Given the description of an element on the screen output the (x, y) to click on. 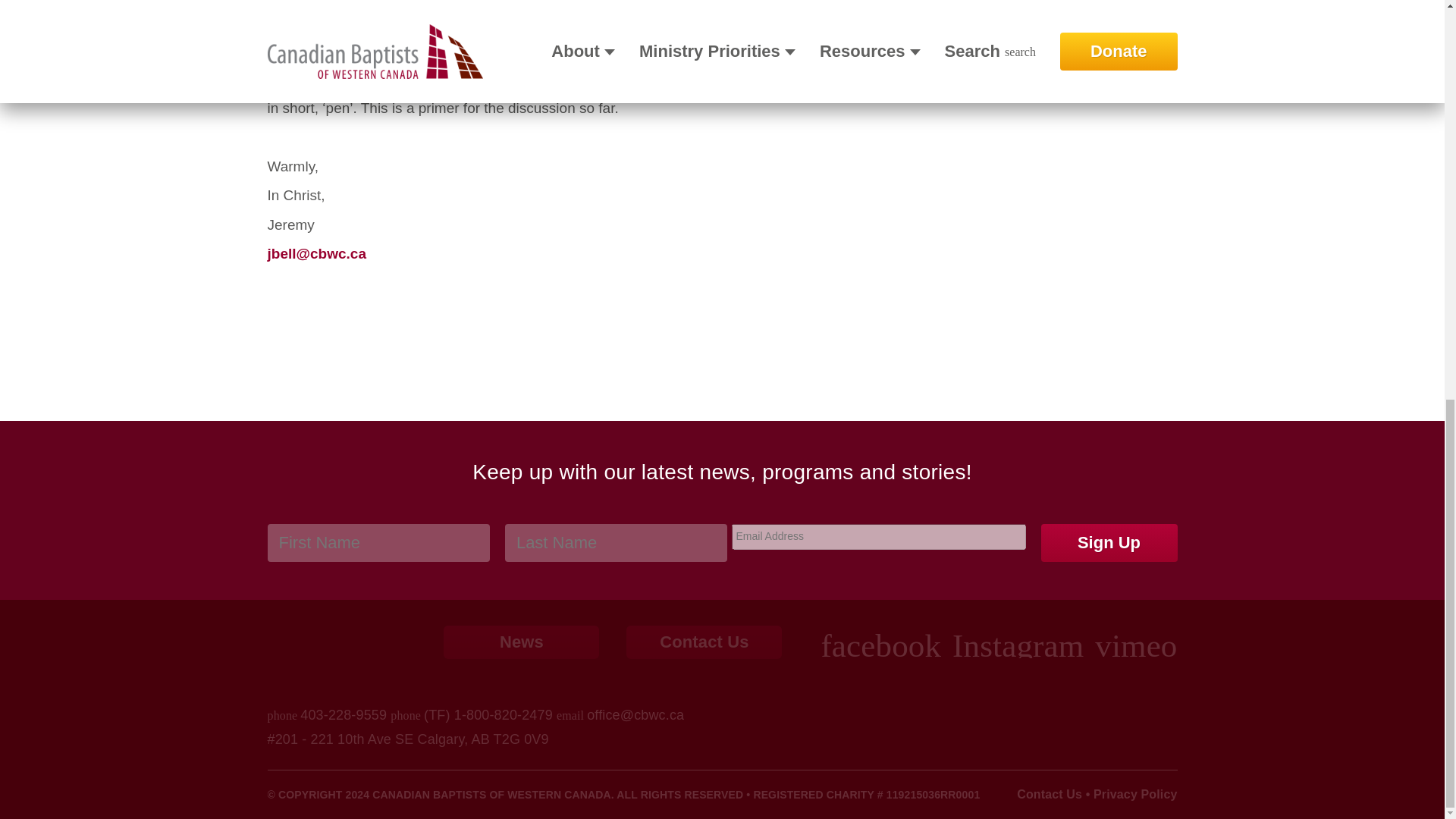
News (521, 642)
Sign Up (1108, 542)
Sign Up (1108, 542)
Contact Us (703, 642)
